Given the description of an element on the screen output the (x, y) to click on. 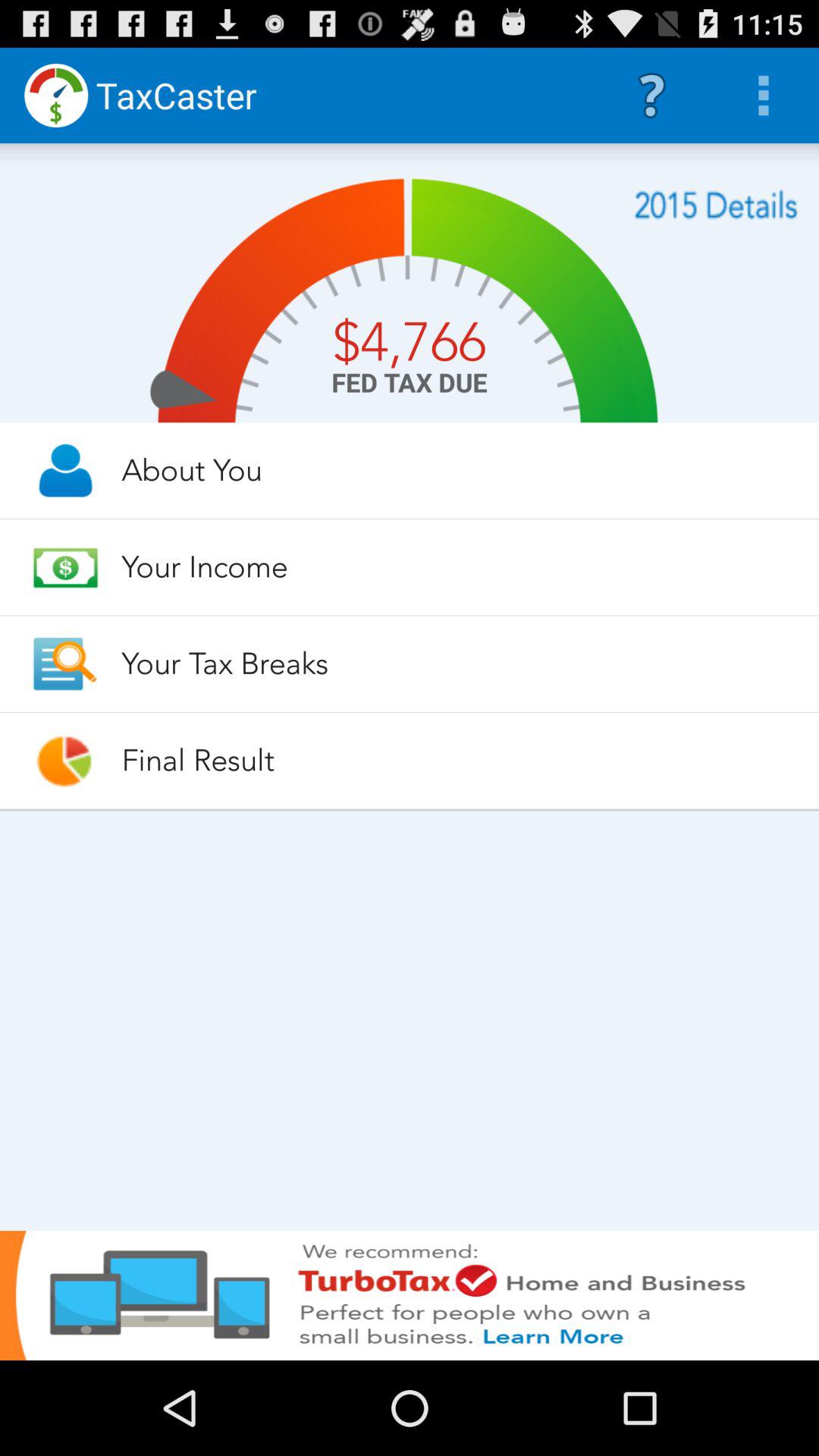
choose the your income item (456, 566)
